Given the description of an element on the screen output the (x, y) to click on. 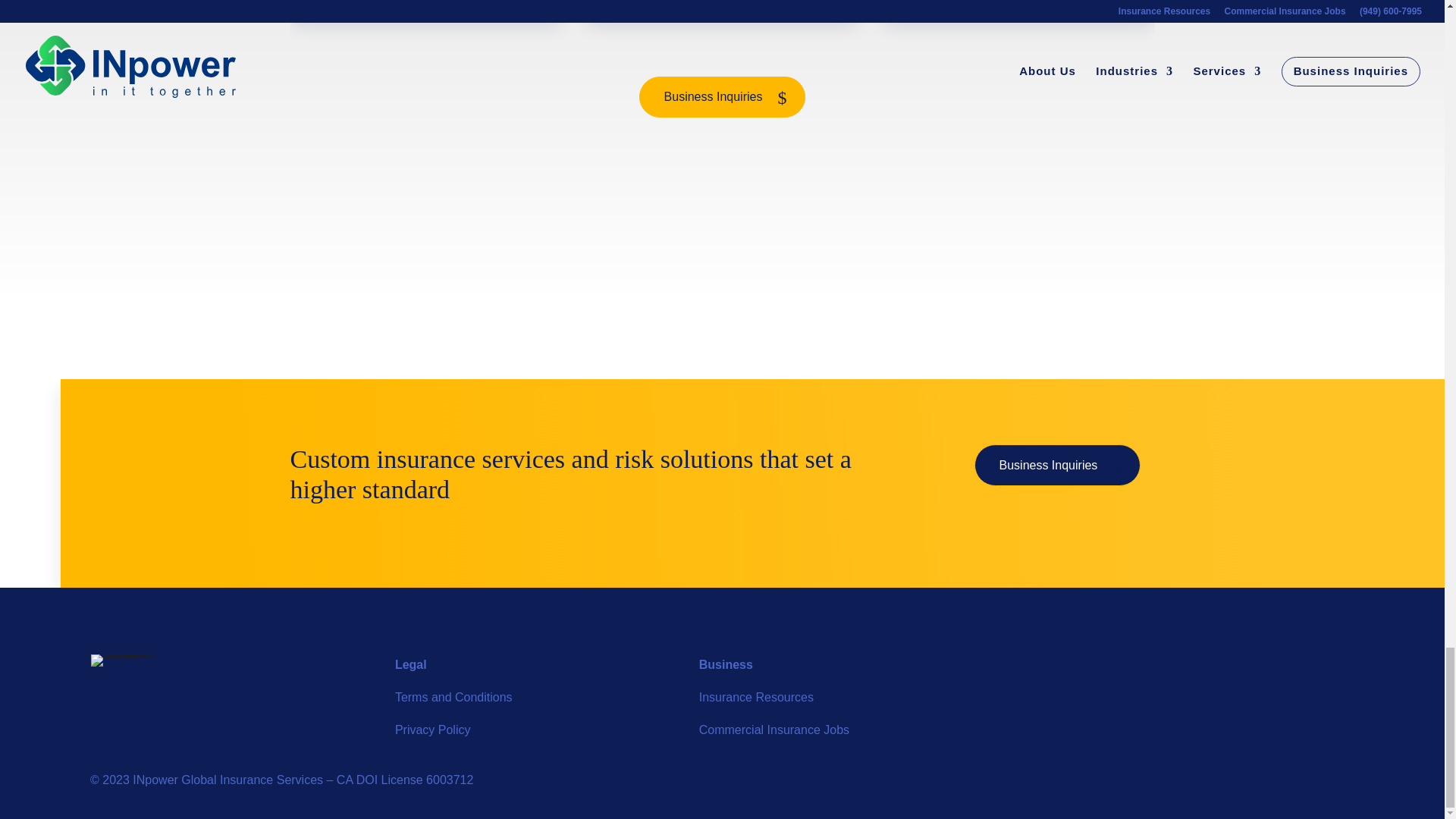
Insurance Resources (755, 697)
Commercial Insurance Jobs (773, 729)
INpowerLogo-footer (128, 660)
